Given the description of an element on the screen output the (x, y) to click on. 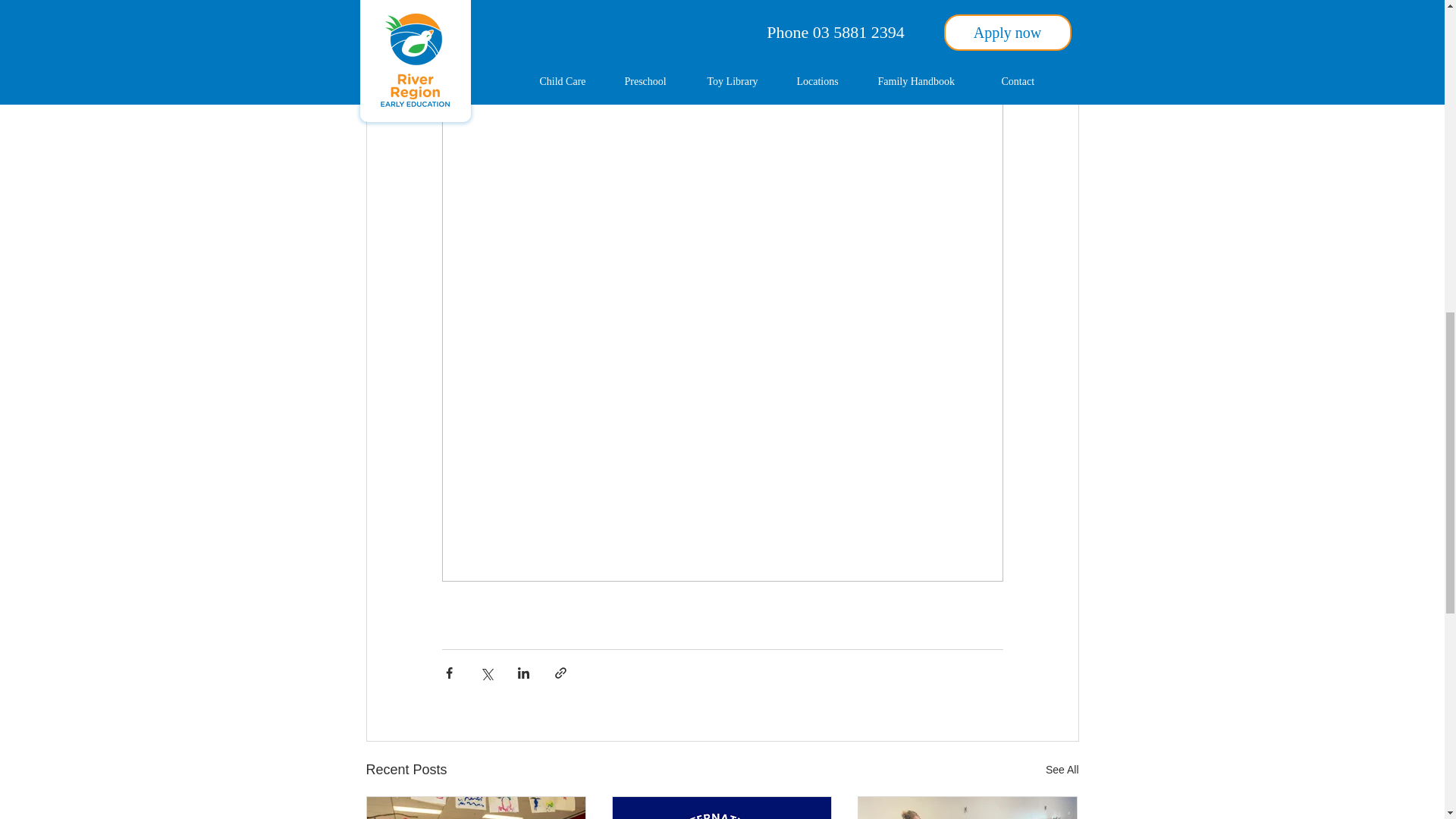
See All (1061, 770)
